Given the description of an element on the screen output the (x, y) to click on. 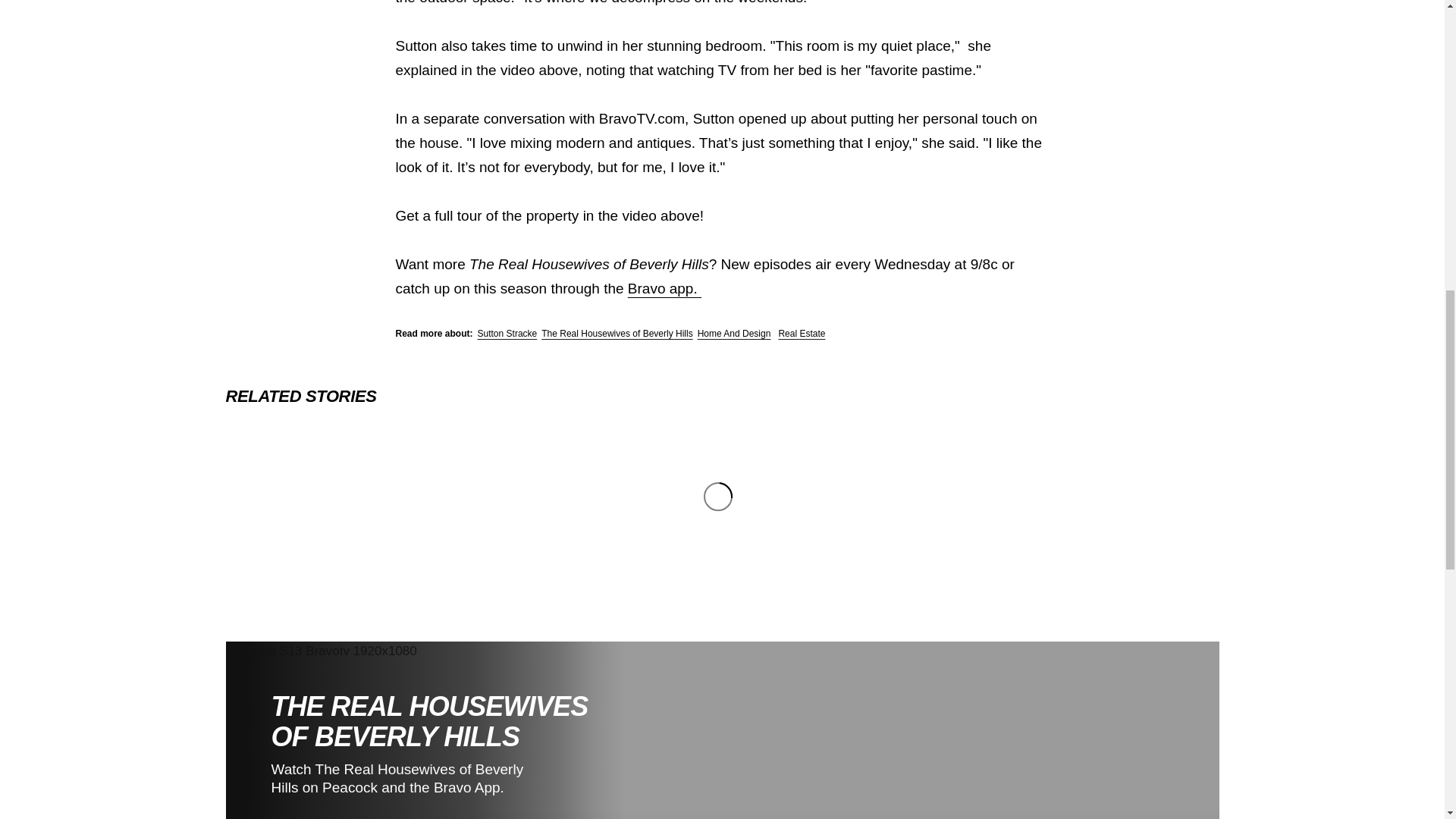
Sutton Stracke (507, 333)
Bravo app.  (664, 288)
Real Estate (801, 333)
The Real Housewives of Beverly Hills (617, 333)
Home And Design (734, 333)
